Given the description of an element on the screen output the (x, y) to click on. 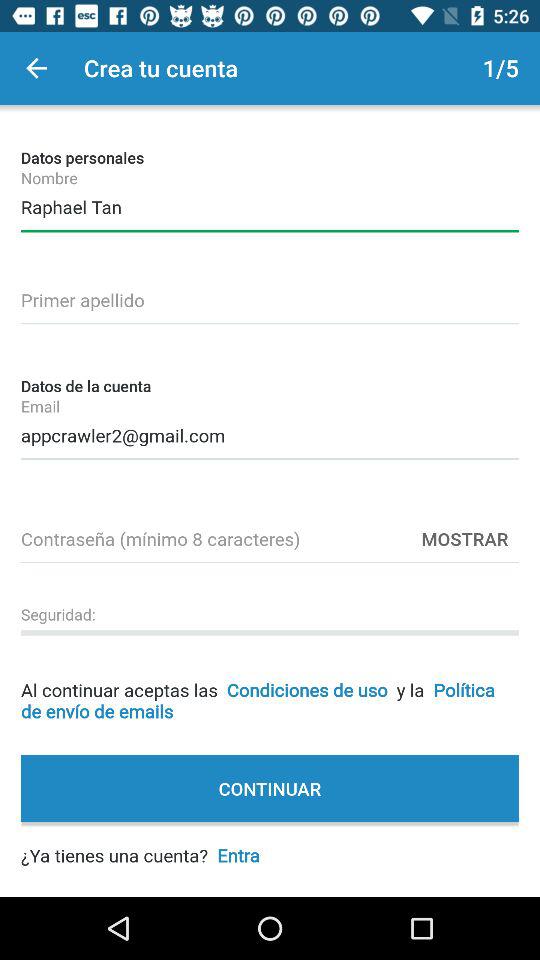
turn on item next to the crea tu cuenta (36, 68)
